Given the description of an element on the screen output the (x, y) to click on. 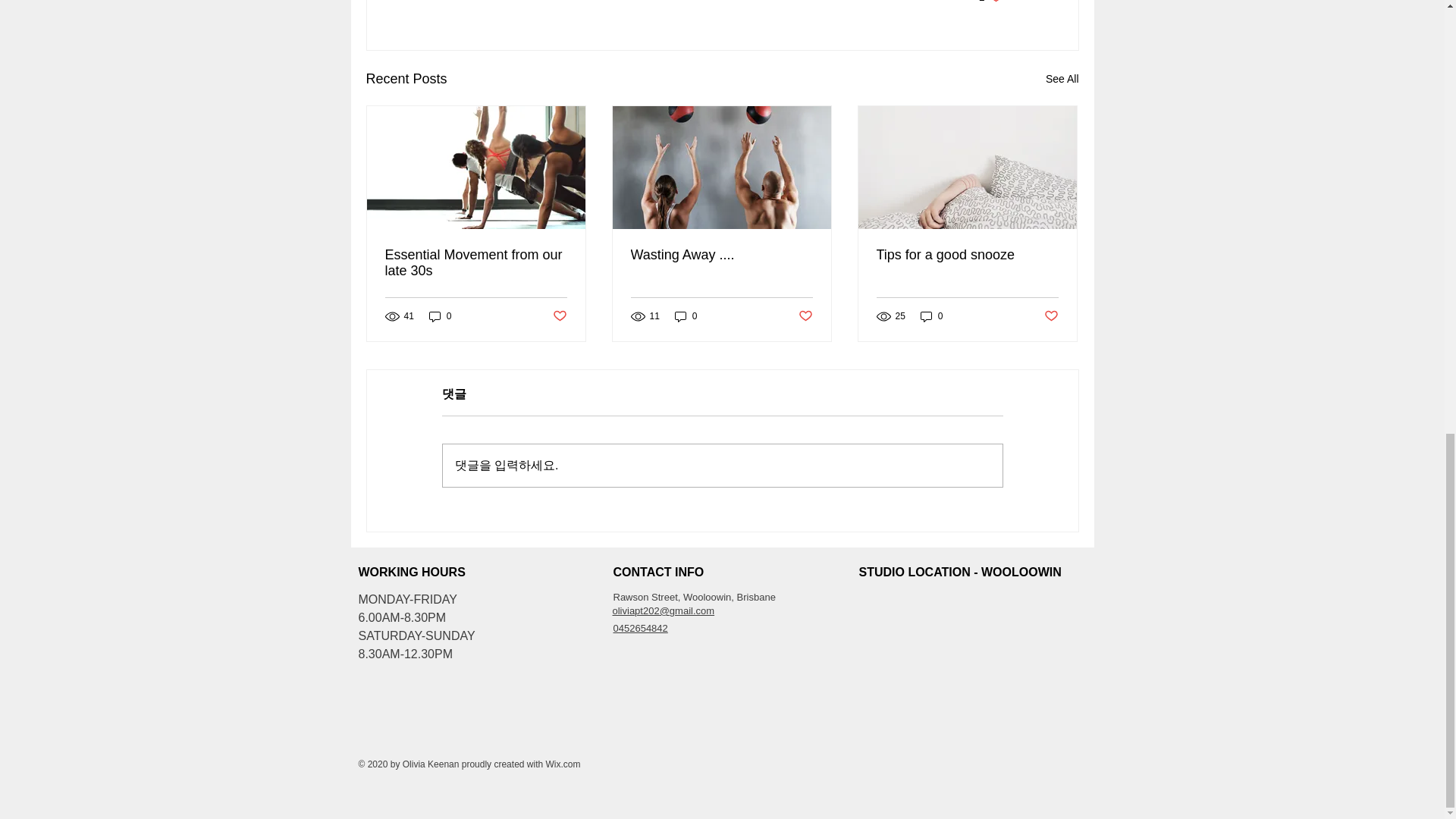
Essential Movement from our late 30s (476, 263)
Wix.com (561, 764)
See All (1061, 78)
0 (685, 315)
0 (440, 315)
0452654842 (639, 627)
Post not marked as liked (990, 2)
Post not marked as liked (804, 316)
0 (558, 316)
Wasting Away .... (931, 315)
Post not marked as liked (721, 254)
Tips for a good snooze (1050, 316)
